Given the description of an element on the screen output the (x, y) to click on. 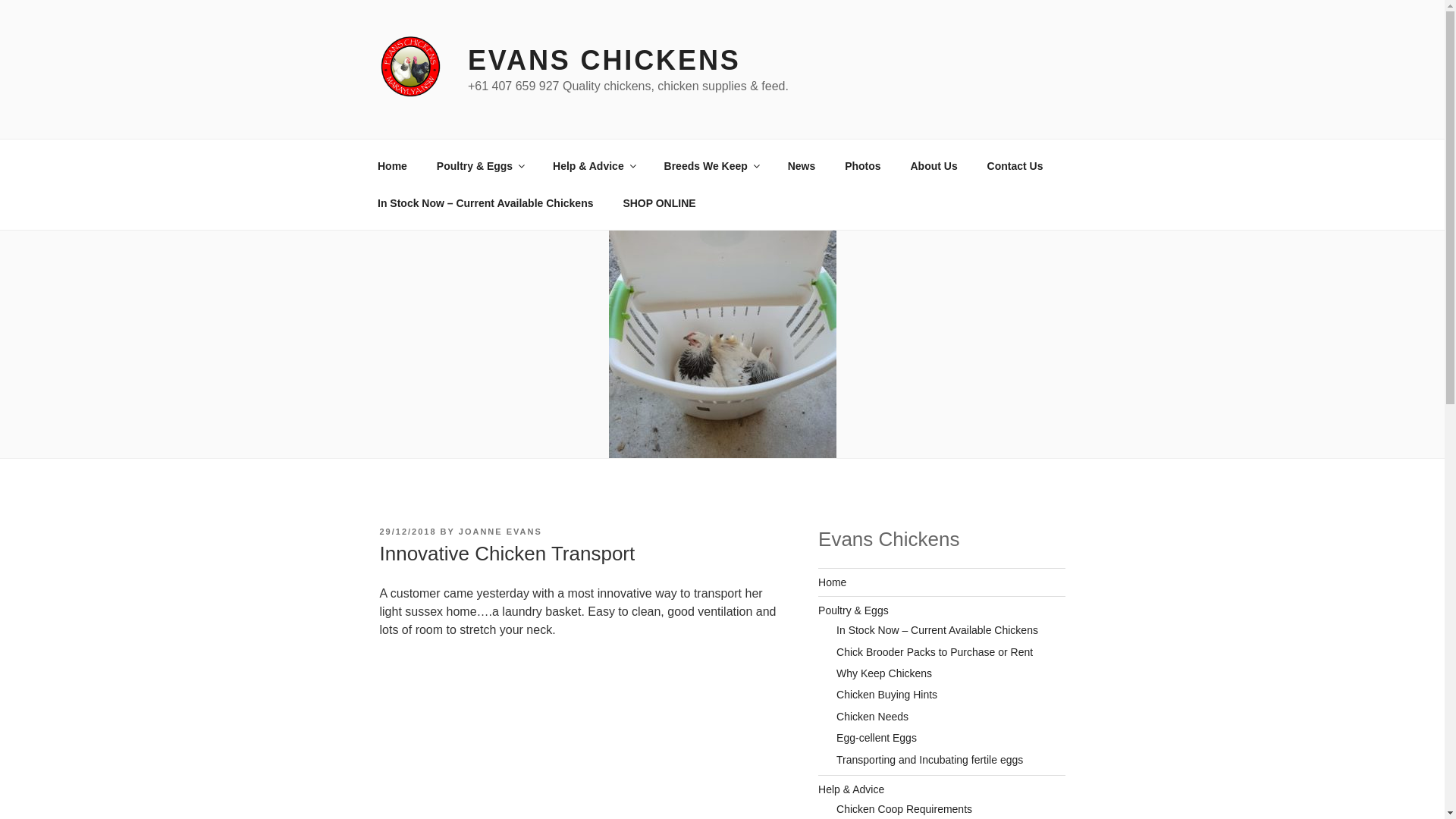
Home Element type: text (392, 165)
Chicken Buying Hints Element type: text (886, 694)
Transporting and Incubating fertile eggs Element type: text (929, 759)
Chicken Coop Requirements Element type: text (904, 809)
SHOP ONLINE Element type: text (659, 203)
Poultry & Eggs Element type: text (479, 165)
Contact Us Element type: text (1014, 165)
Poultry & Eggs Element type: text (853, 610)
Breeds We Keep Element type: text (710, 165)
29/12/2018 Element type: text (407, 531)
Chick Brooder Packs to Purchase or Rent Element type: text (934, 652)
Photos Element type: text (862, 165)
About Us Element type: text (933, 165)
Help & Advice Element type: text (851, 789)
News Element type: text (801, 165)
JOANNE EVANS Element type: text (500, 531)
EVANS CHICKENS Element type: text (603, 59)
Home Element type: text (832, 582)
Help & Advice Element type: text (593, 165)
Egg-cellent Eggs Element type: text (876, 737)
Chicken Needs Element type: text (872, 716)
Why Keep Chickens Element type: text (883, 673)
